Given the description of an element on the screen output the (x, y) to click on. 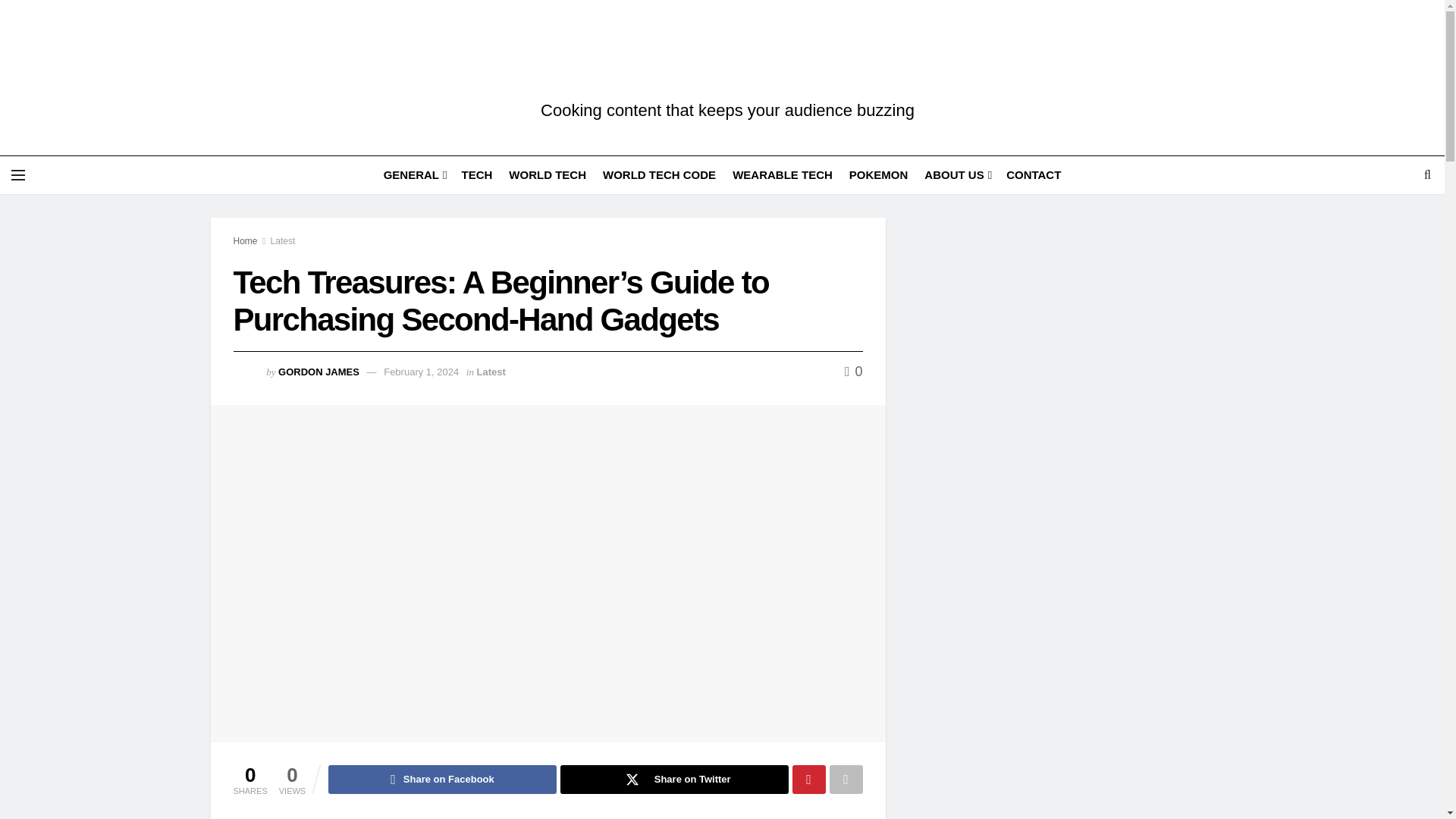
Latest (282, 240)
WEARABLE TECH (782, 174)
ABOUT US (957, 174)
GORDON JAMES (318, 371)
WORLD TECH CODE (659, 174)
WORLD TECH (547, 174)
GENERAL (414, 174)
POKEMON (878, 174)
Home (244, 240)
CONTACT (1033, 174)
February 1, 2024 (421, 371)
Latest (491, 371)
0 (853, 371)
TECH (476, 174)
